Given the description of an element on the screen output the (x, y) to click on. 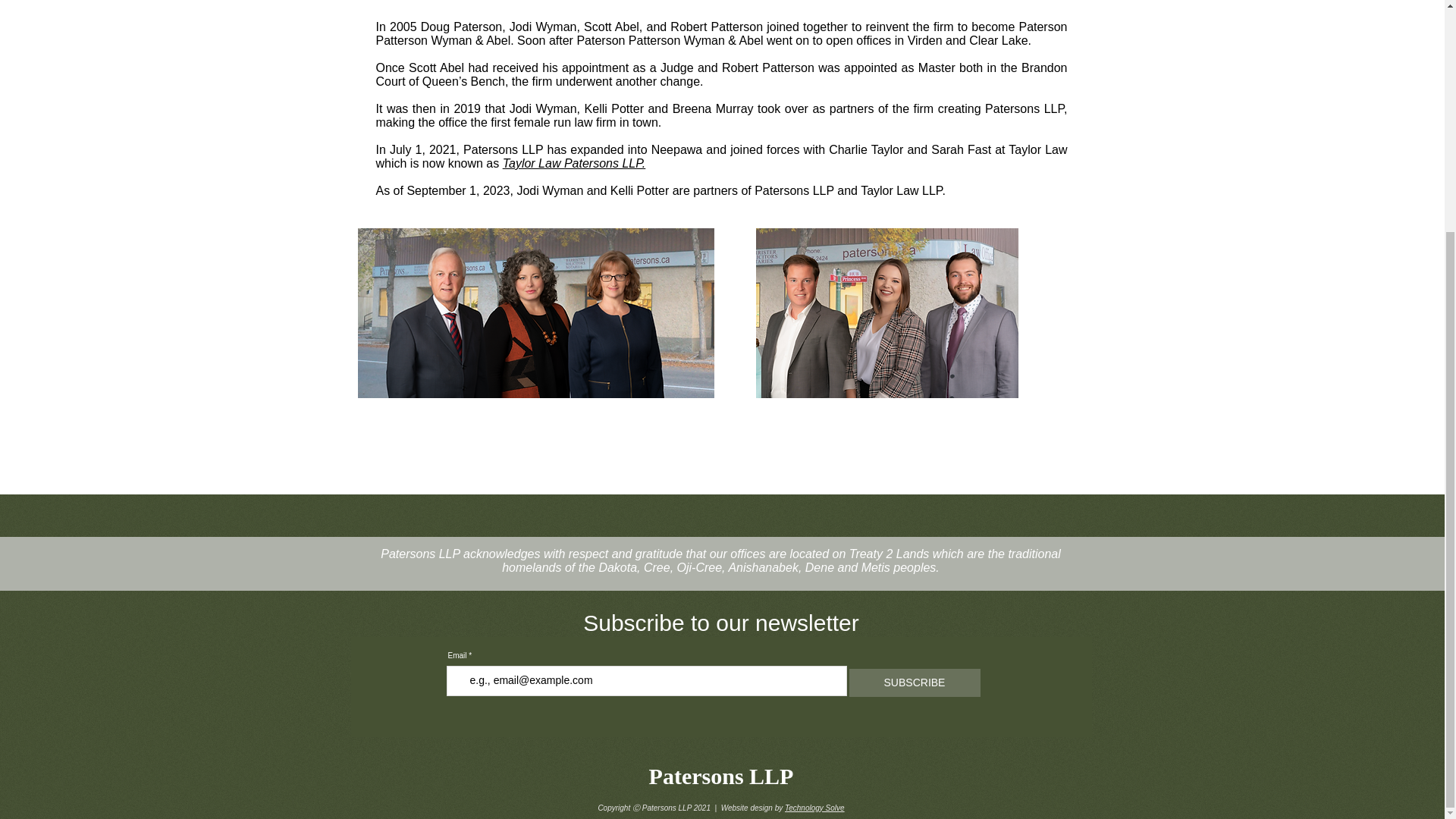
Taylor Law Patersons LLP. (574, 163)
SUBSCRIBE (913, 682)
Technology Solve (814, 807)
